Given the description of an element on the screen output the (x, y) to click on. 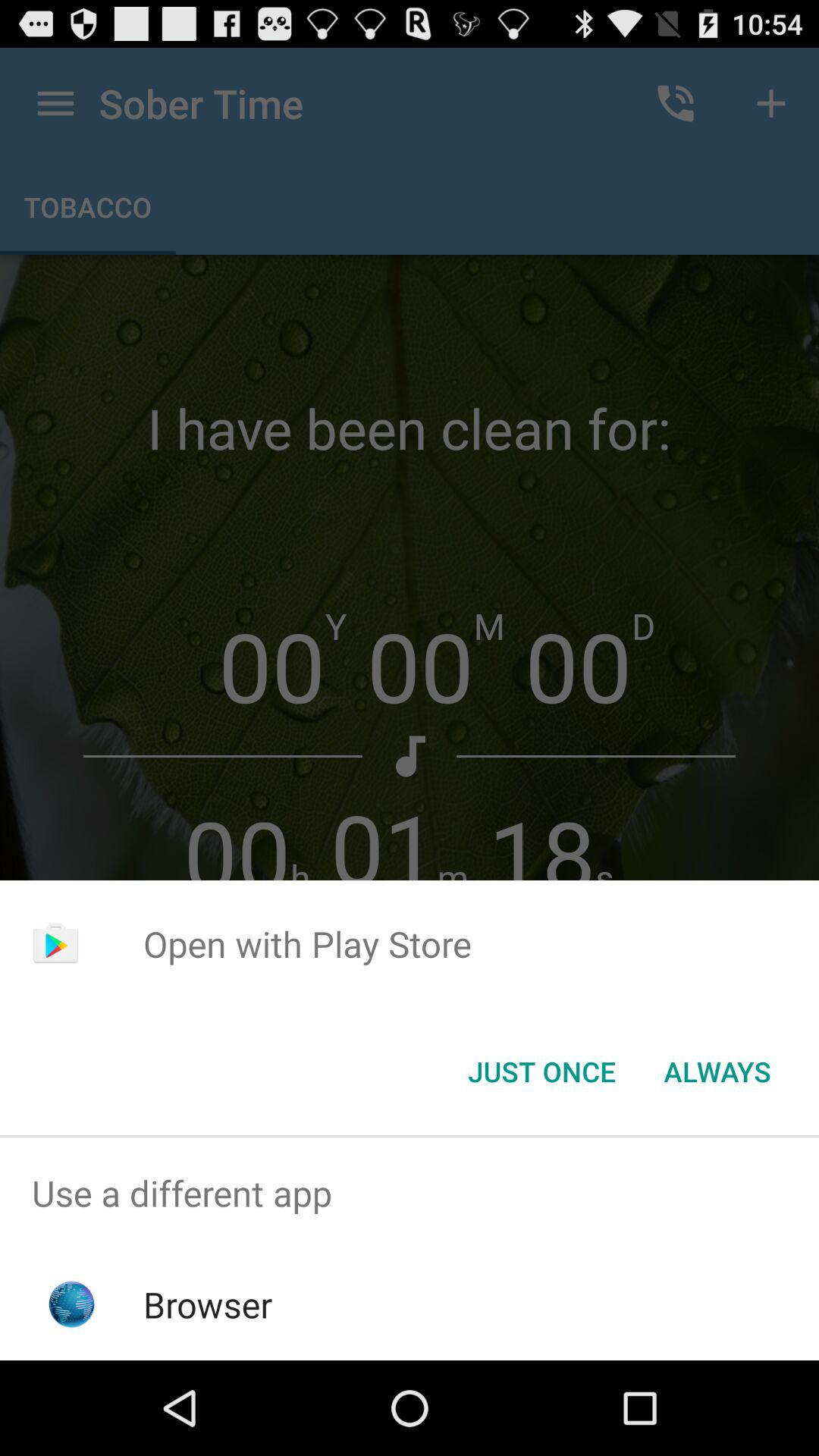
click item below the open with play item (717, 1071)
